Given the description of an element on the screen output the (x, y) to click on. 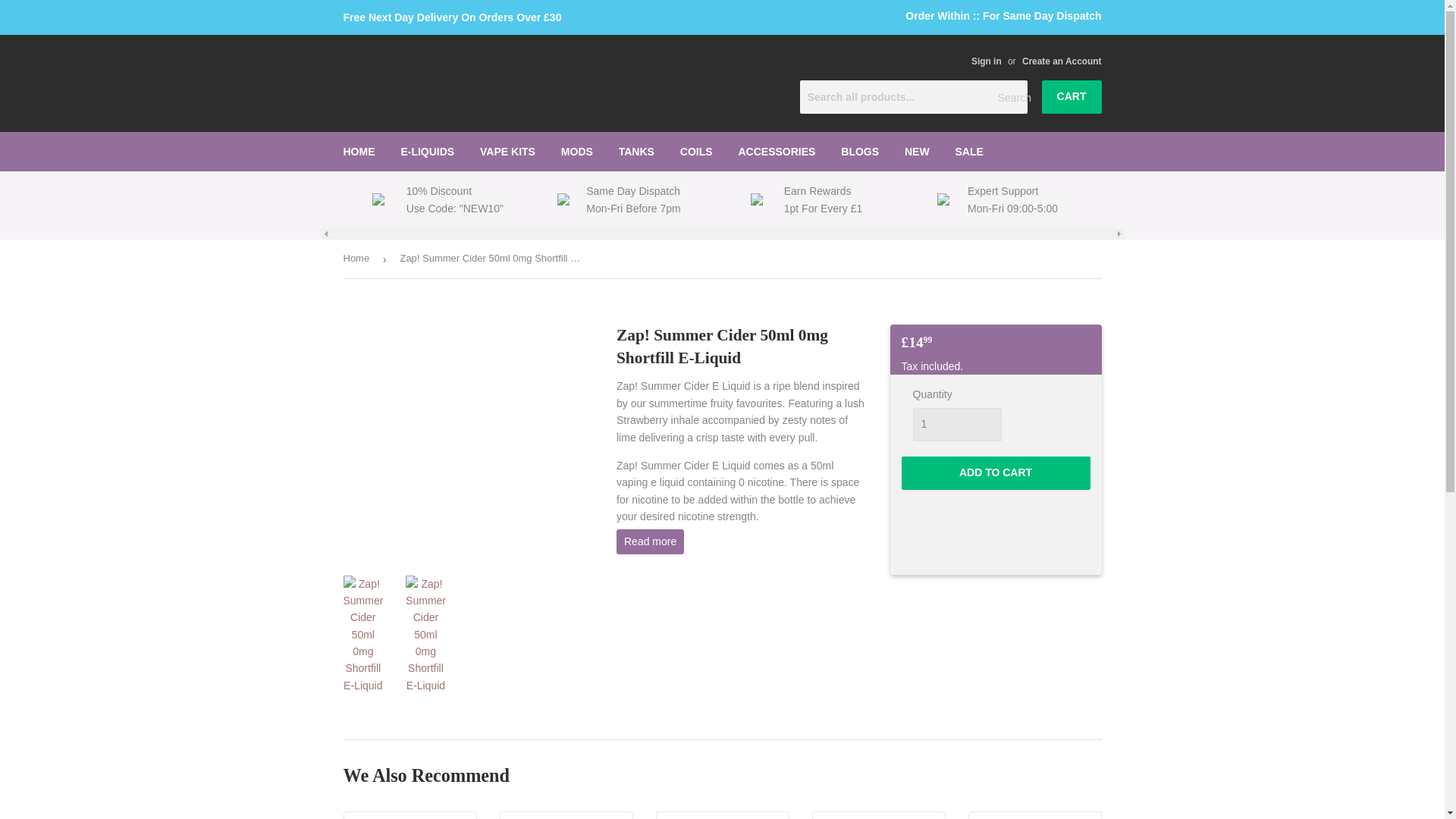
Sign in (986, 61)
Create an Account (1062, 61)
1 (956, 424)
